Given the description of an element on the screen output the (x, y) to click on. 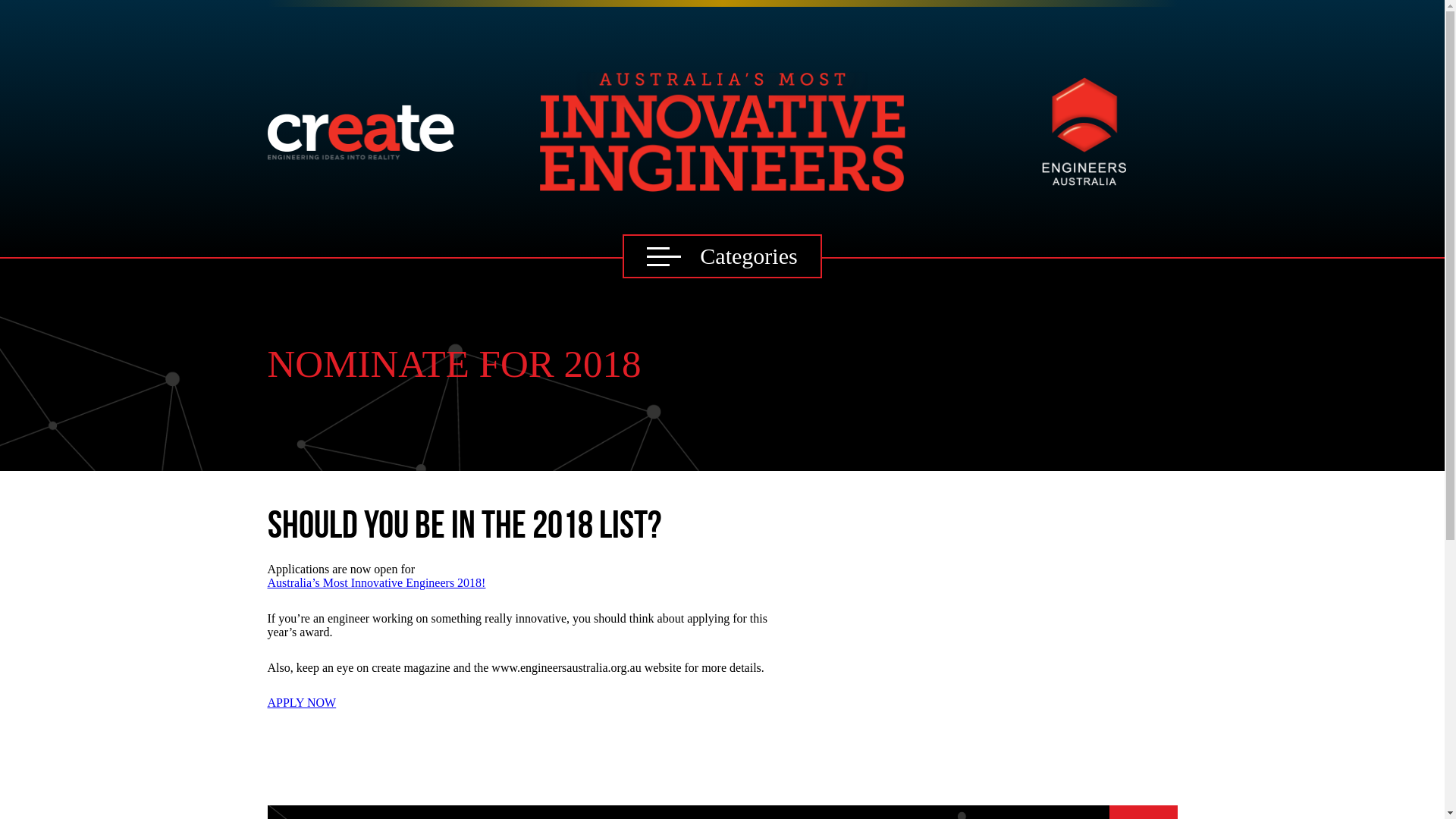
APPLY NOW Element type: text (531, 702)
Categories Element type: text (721, 256)
